Given the description of an element on the screen output the (x, y) to click on. 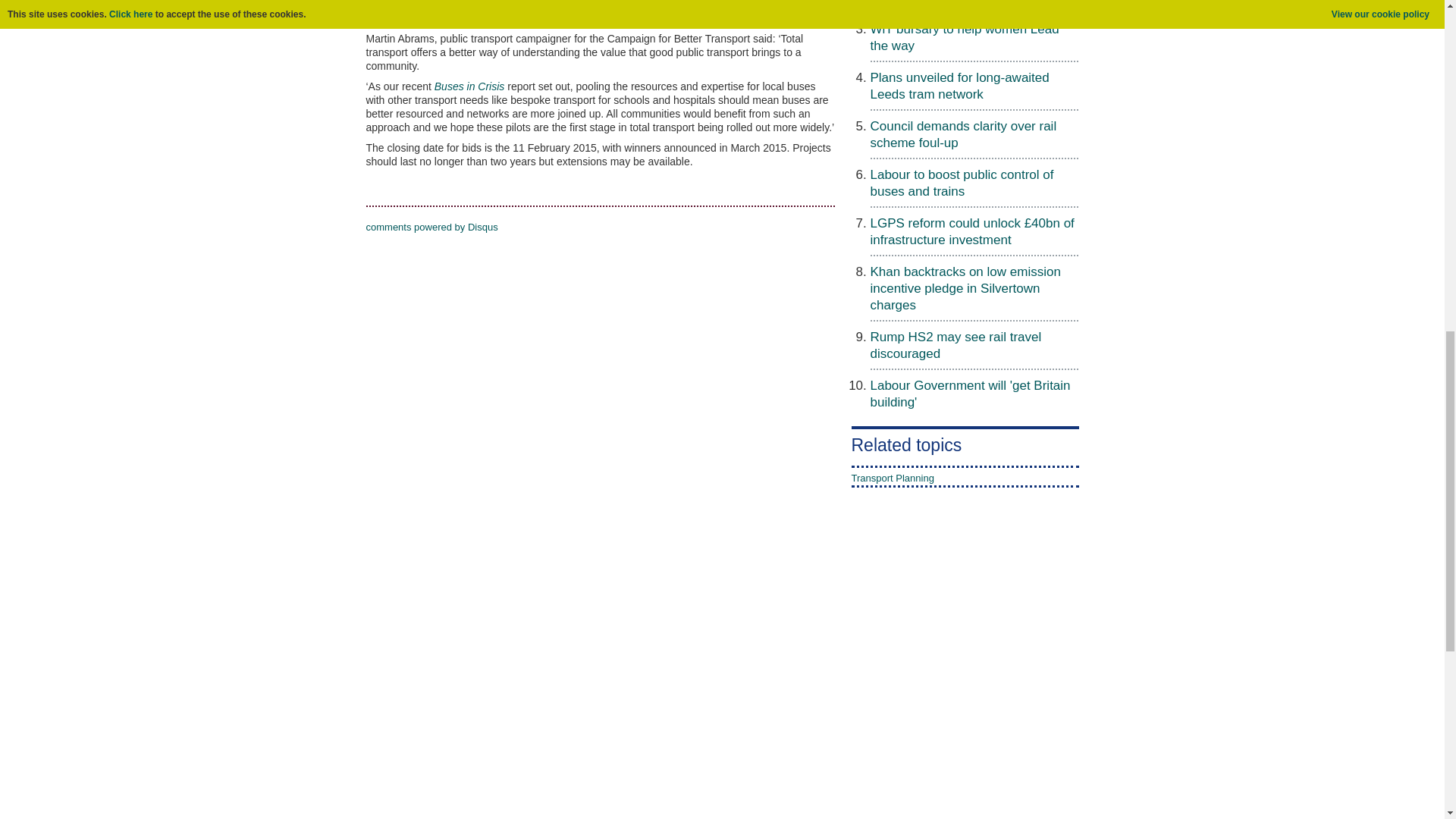
ORR chief: British railways not great (973, 2)
3rd party ad content (721, 793)
3rd party ad content (907, 671)
WiT bursary to help women Lead the way (964, 37)
comments powered by Disqus (431, 226)
Buses in Crisis (469, 86)
